Given the description of an element on the screen output the (x, y) to click on. 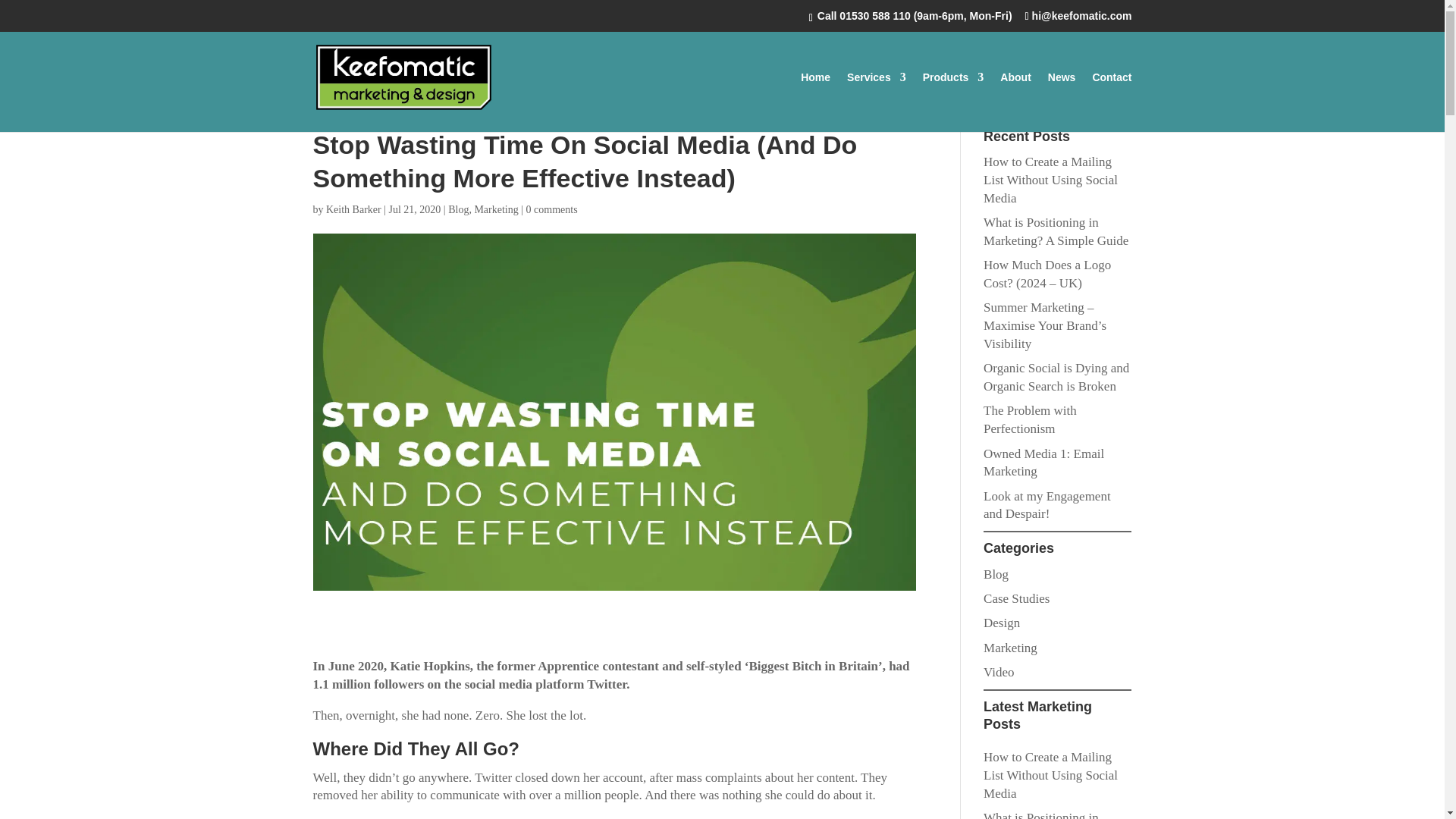
Blog (996, 574)
Products (953, 101)
The Problem with Perfectionism (1030, 419)
Blog (458, 209)
Keith Barker (353, 209)
Organic Social is Dying and Organic Search is Broken (1056, 377)
Owned Media 1: Email Marketing (1043, 462)
Video (999, 672)
How to Create a Mailing List Without Using Social Media (1051, 179)
What is Positioning in Marketing? A Simple Guide (1056, 231)
